Given the description of an element on the screen output the (x, y) to click on. 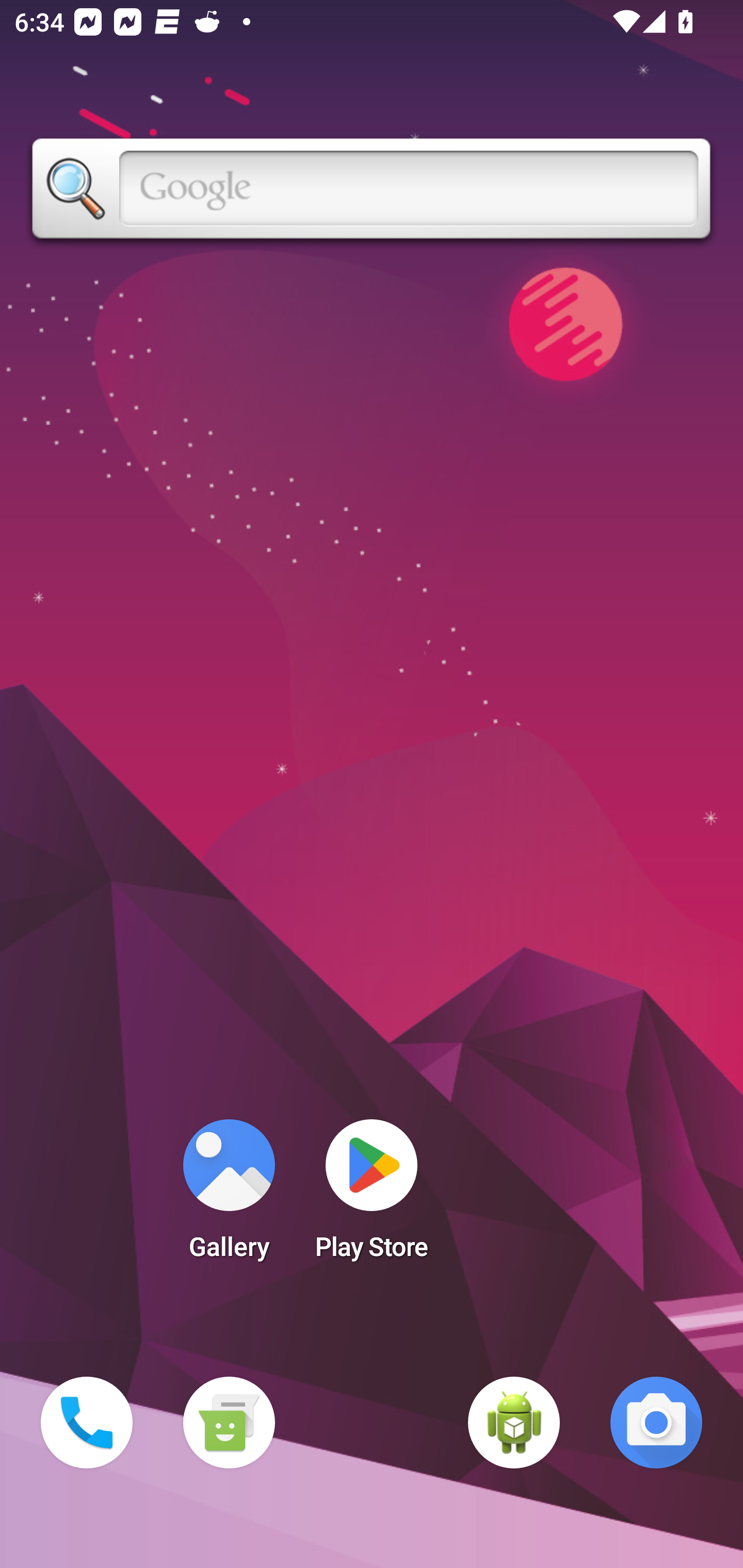
Gallery (228, 1195)
Play Store (371, 1195)
Phone (86, 1422)
Messaging (228, 1422)
WebView Browser Tester (513, 1422)
Camera (656, 1422)
